Given the description of an element on the screen output the (x, y) to click on. 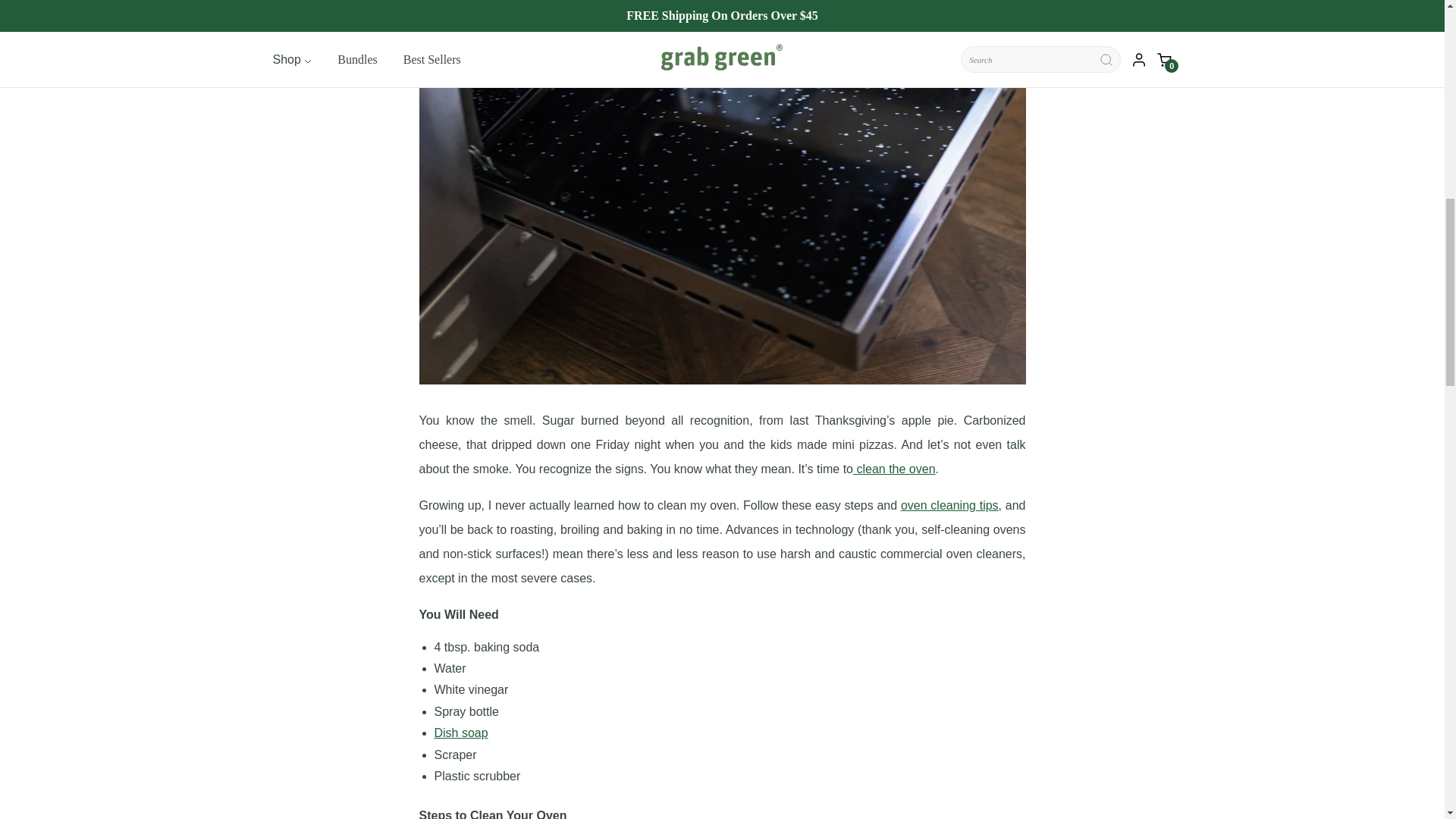
oven cleaning tips (949, 504)
clean the oven (894, 468)
Dish soap (460, 732)
